Given the description of an element on the screen output the (x, y) to click on. 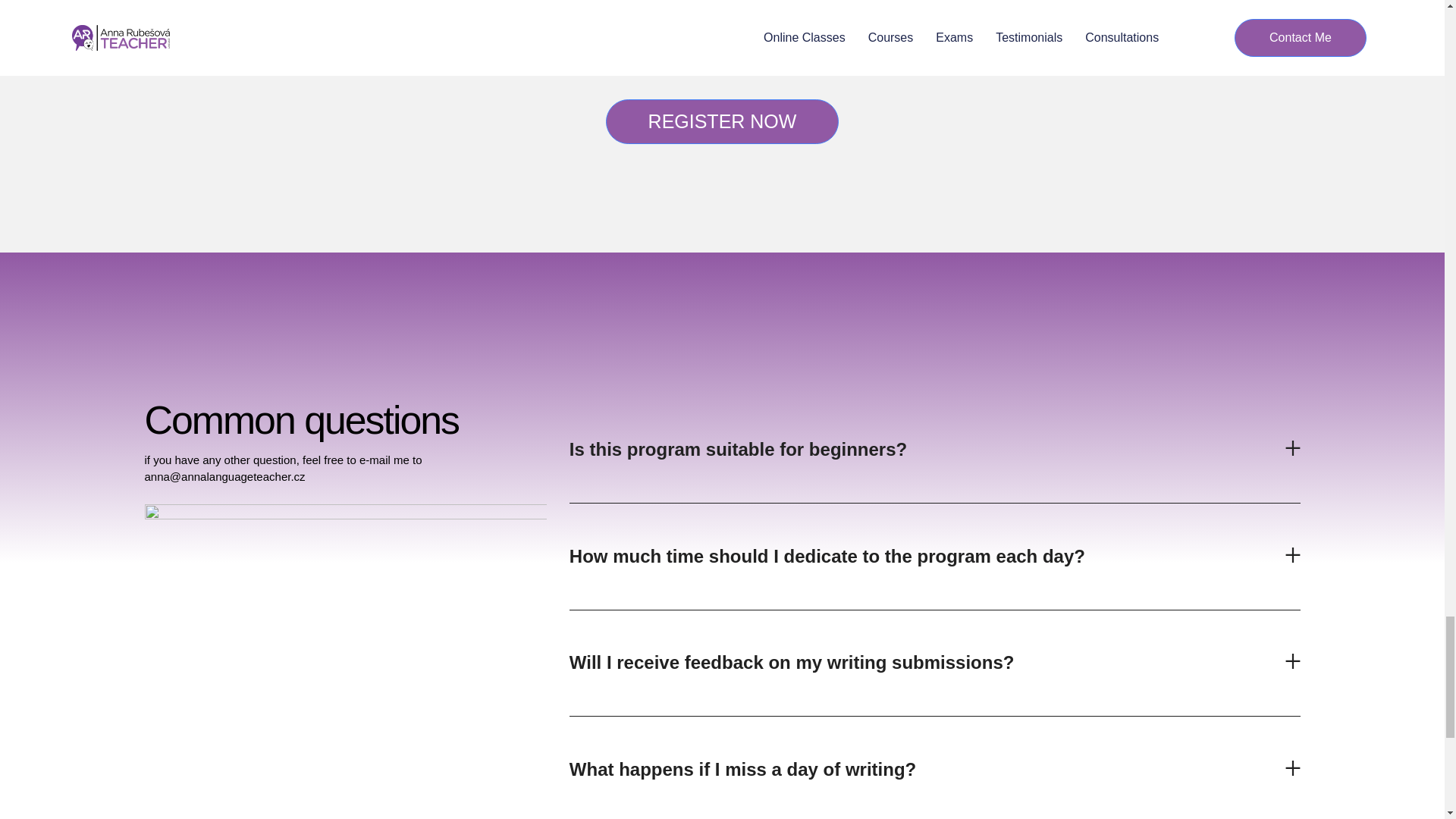
Is this program suitable for beginners? (738, 448)
Will I receive feedback on my writing submissions? (791, 661)
How much time should I dedicate to the program each day? (826, 556)
REGISTER NOW (722, 121)
What happens if I miss a day of writing? (742, 769)
